Given the description of an element on the screen output the (x, y) to click on. 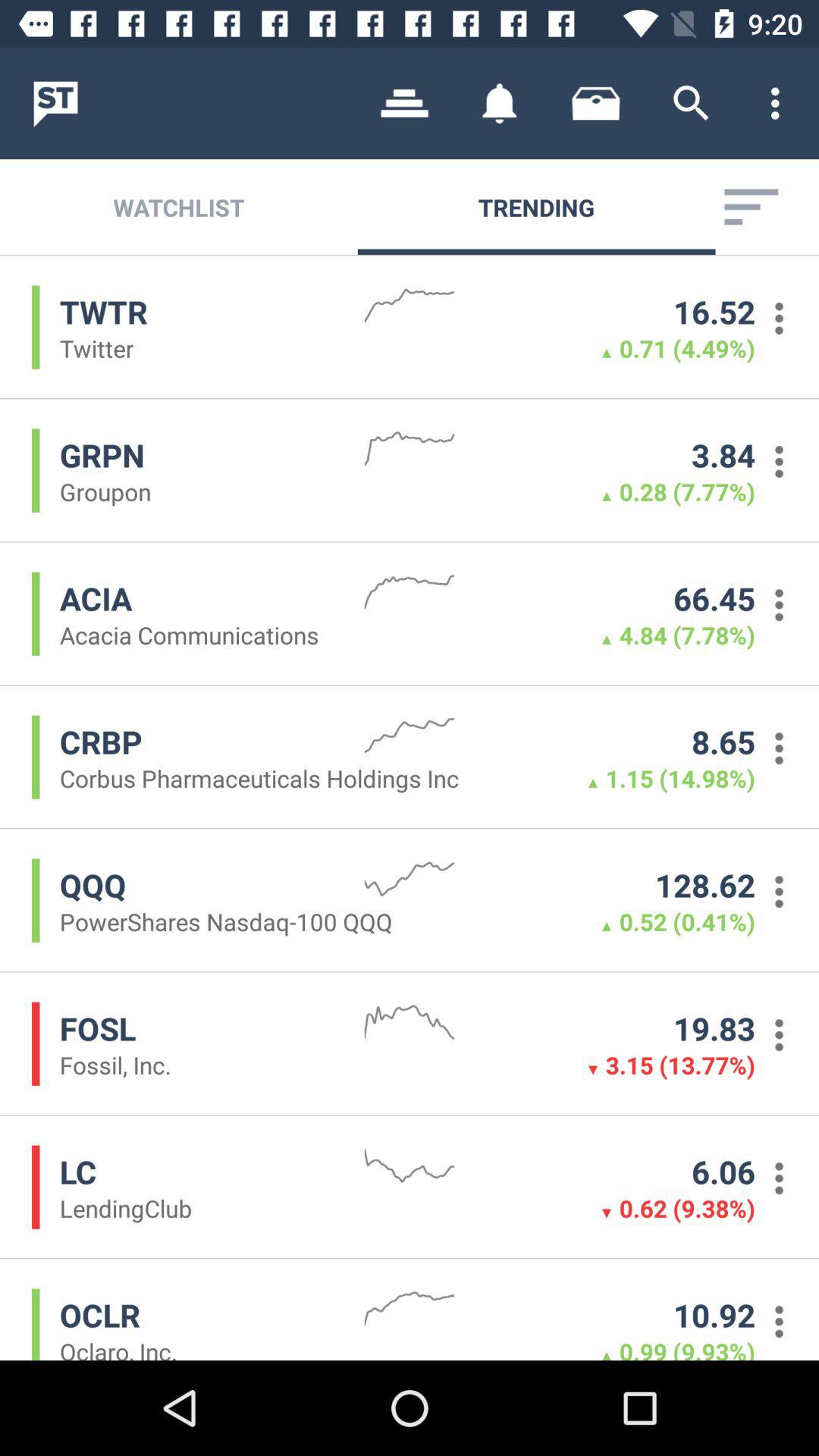
turn on the icon to the right of the watchlist item (404, 103)
